Given the description of an element on the screen output the (x, y) to click on. 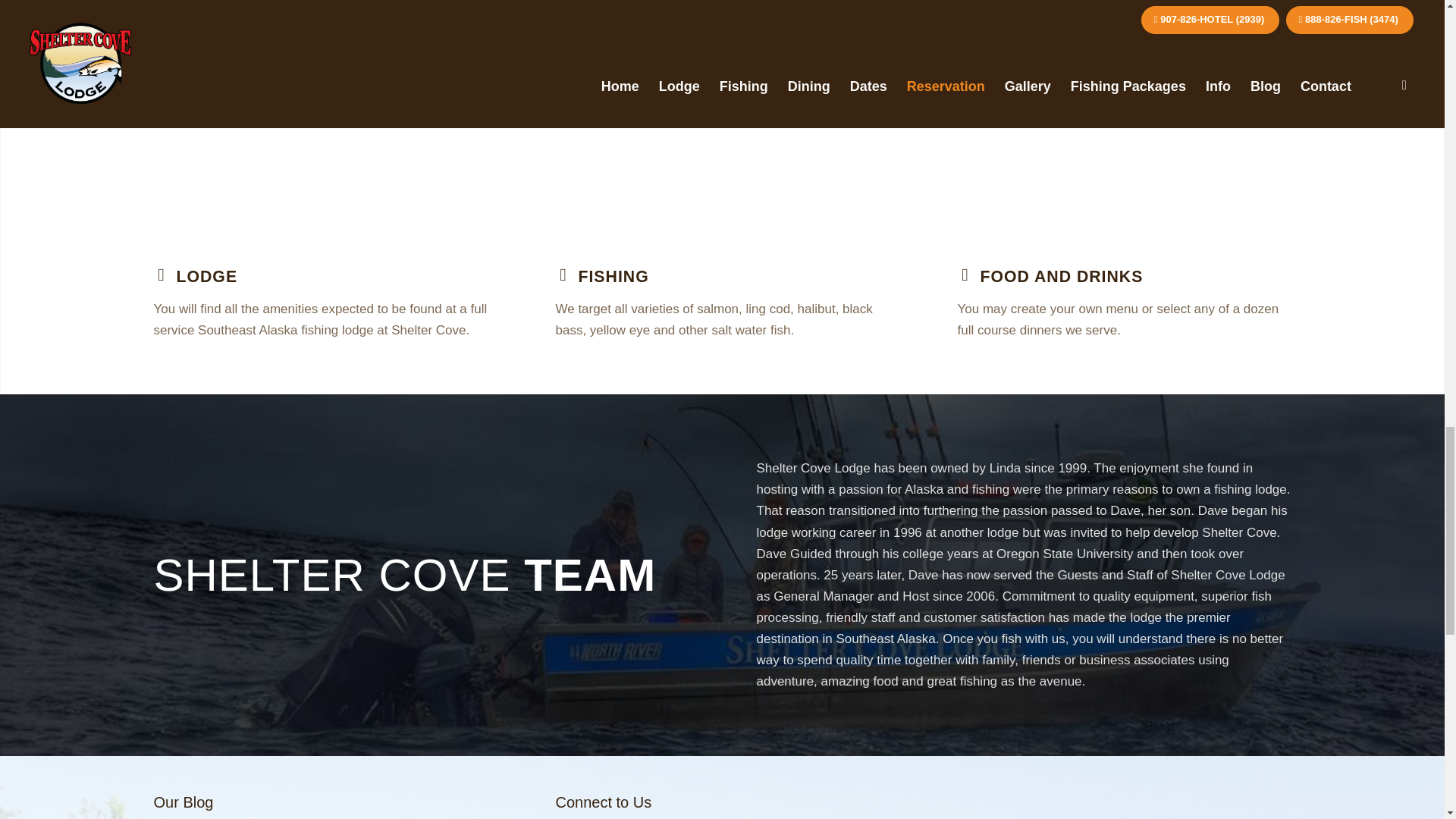
FISHING (612, 276)
Fishing (612, 276)
Lodge (206, 276)
LODGE (206, 276)
